Given the description of an element on the screen output the (x, y) to click on. 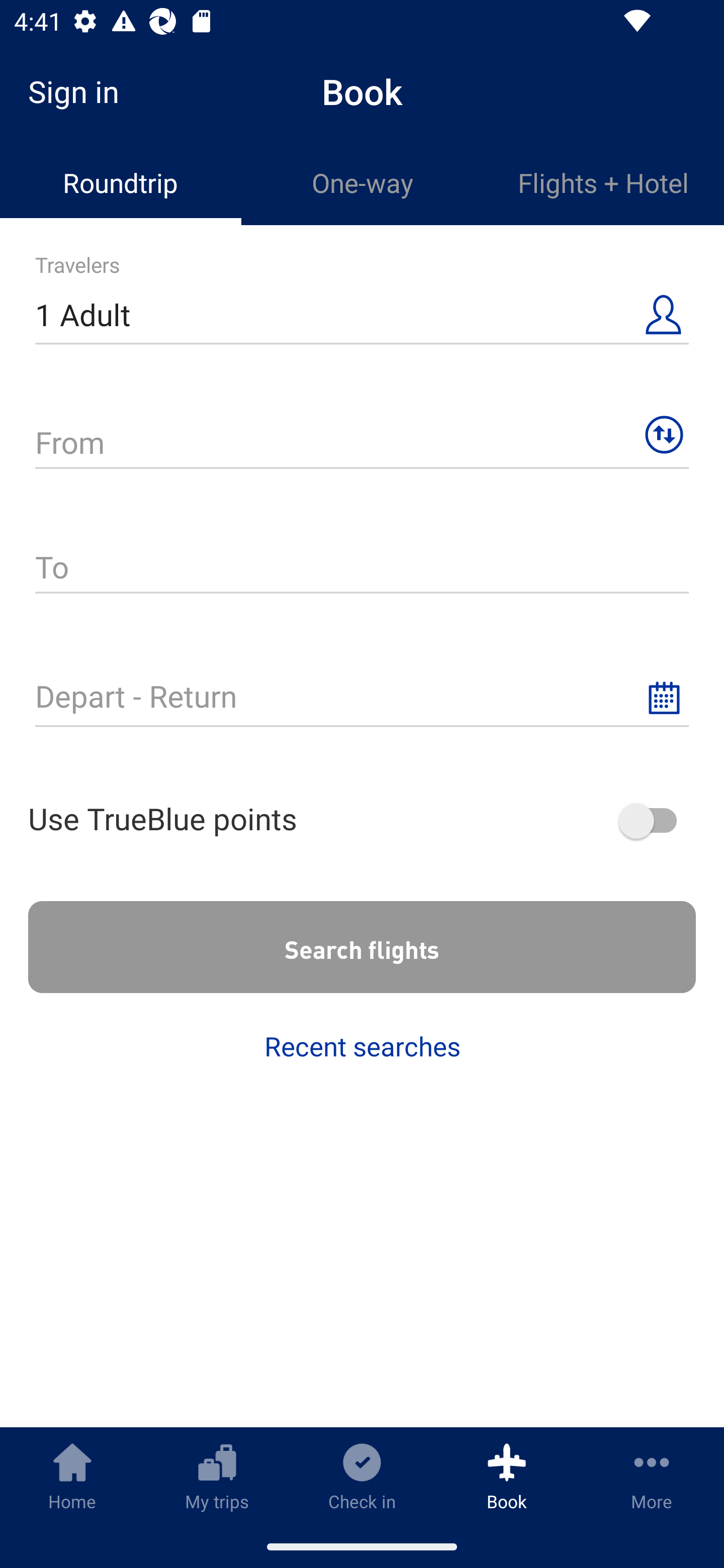
Sign in (80, 91)
One-way (361, 183)
Flights + Hotel (603, 183)
1 Adult (361, 315)
From (361, 444)
Swap origin and destination (663, 434)
To (361, 568)
Depart - Return (361, 697)
Search flights (361, 946)
Recent searches (361, 1046)
Home (72, 1475)
My trips (216, 1475)
Check in (361, 1475)
More (651, 1475)
